Given the description of an element on the screen output the (x, y) to click on. 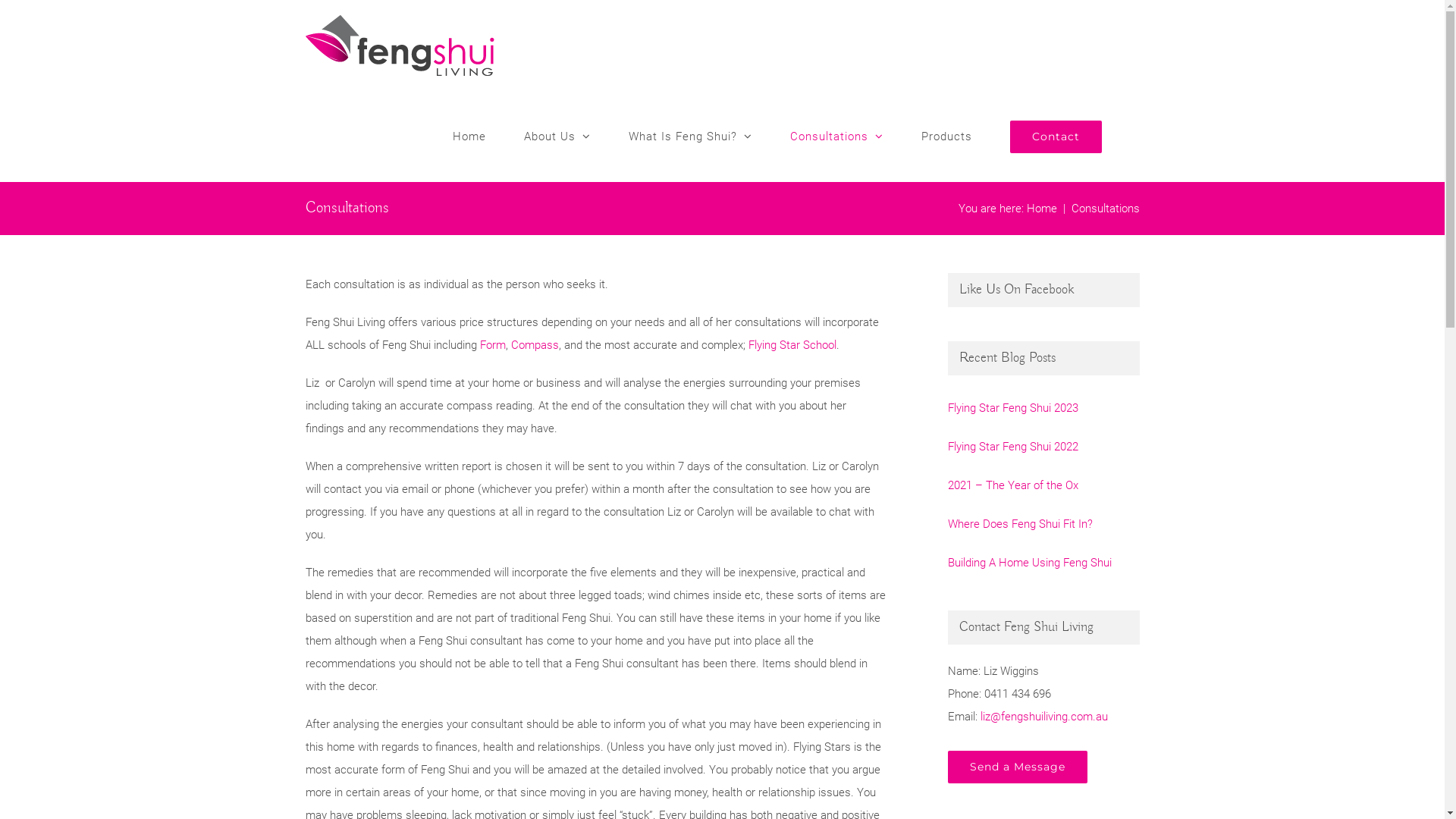
Products Element type: text (945, 136)
Contact Element type: text (1055, 136)
Home Element type: text (468, 136)
Building A Home Using Feng Shui Element type: text (1043, 562)
Flying Star Feng Shui 2022 Element type: text (1043, 446)
liz@fengshuiliving.com.au Element type: text (1043, 716)
About Us Element type: text (556, 136)
Where Does Feng Shui Fit In? Element type: text (1043, 523)
Send a Message Element type: text (1017, 766)
Form Element type: text (492, 344)
Home Element type: text (1041, 208)
Flying Star School Element type: text (791, 344)
Consultations Element type: text (836, 136)
What Is Feng Shui? Element type: text (689, 136)
Flying Star Feng Shui 2023 Element type: text (1043, 407)
Compass Element type: text (534, 344)
